Given the description of an element on the screen output the (x, y) to click on. 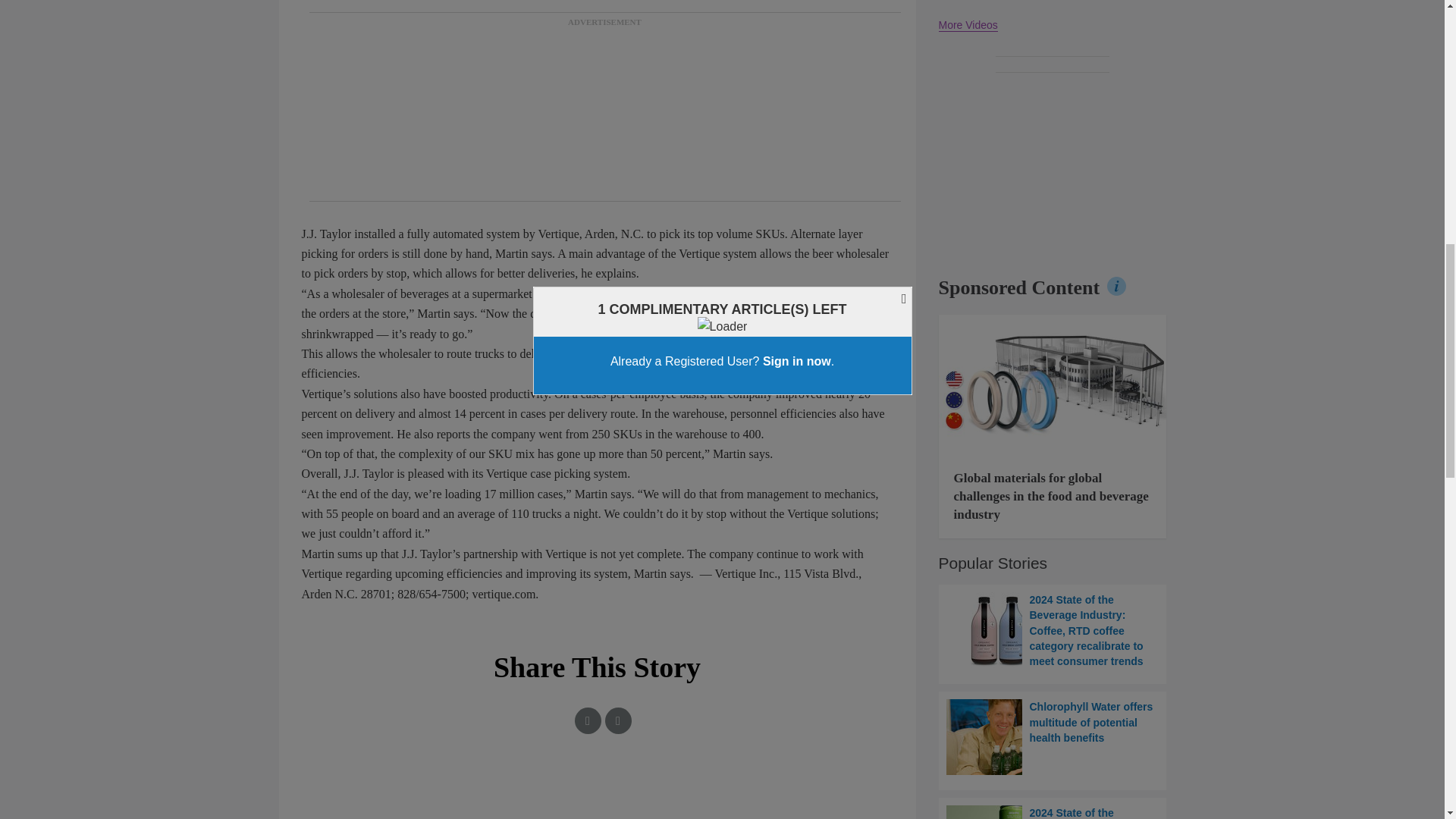
Freudenberg Sealing Technologies Global Sealing Materials (1052, 384)
